Given the description of an element on the screen output the (x, y) to click on. 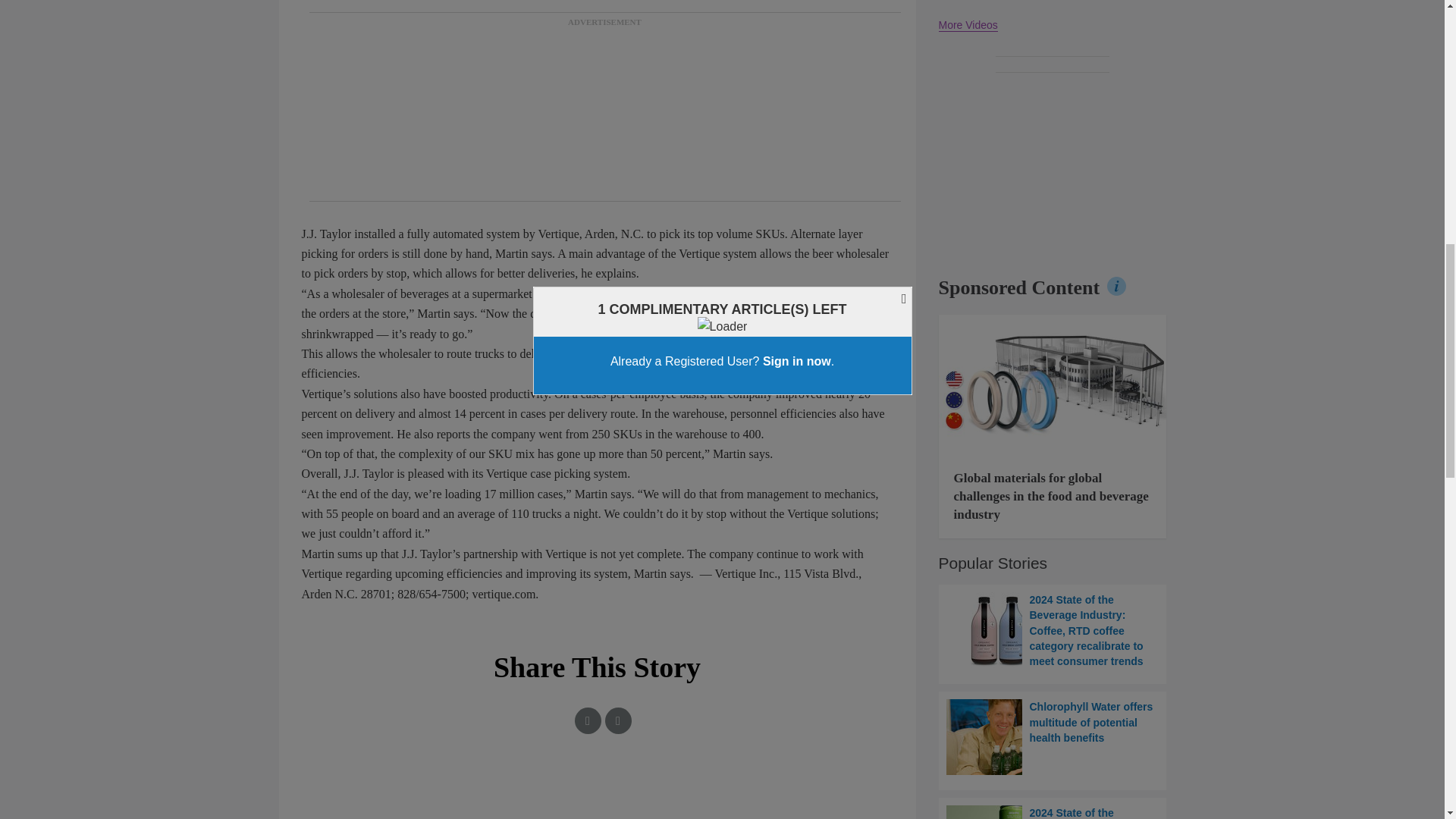
Freudenberg Sealing Technologies Global Sealing Materials (1052, 384)
